Given the description of an element on the screen output the (x, y) to click on. 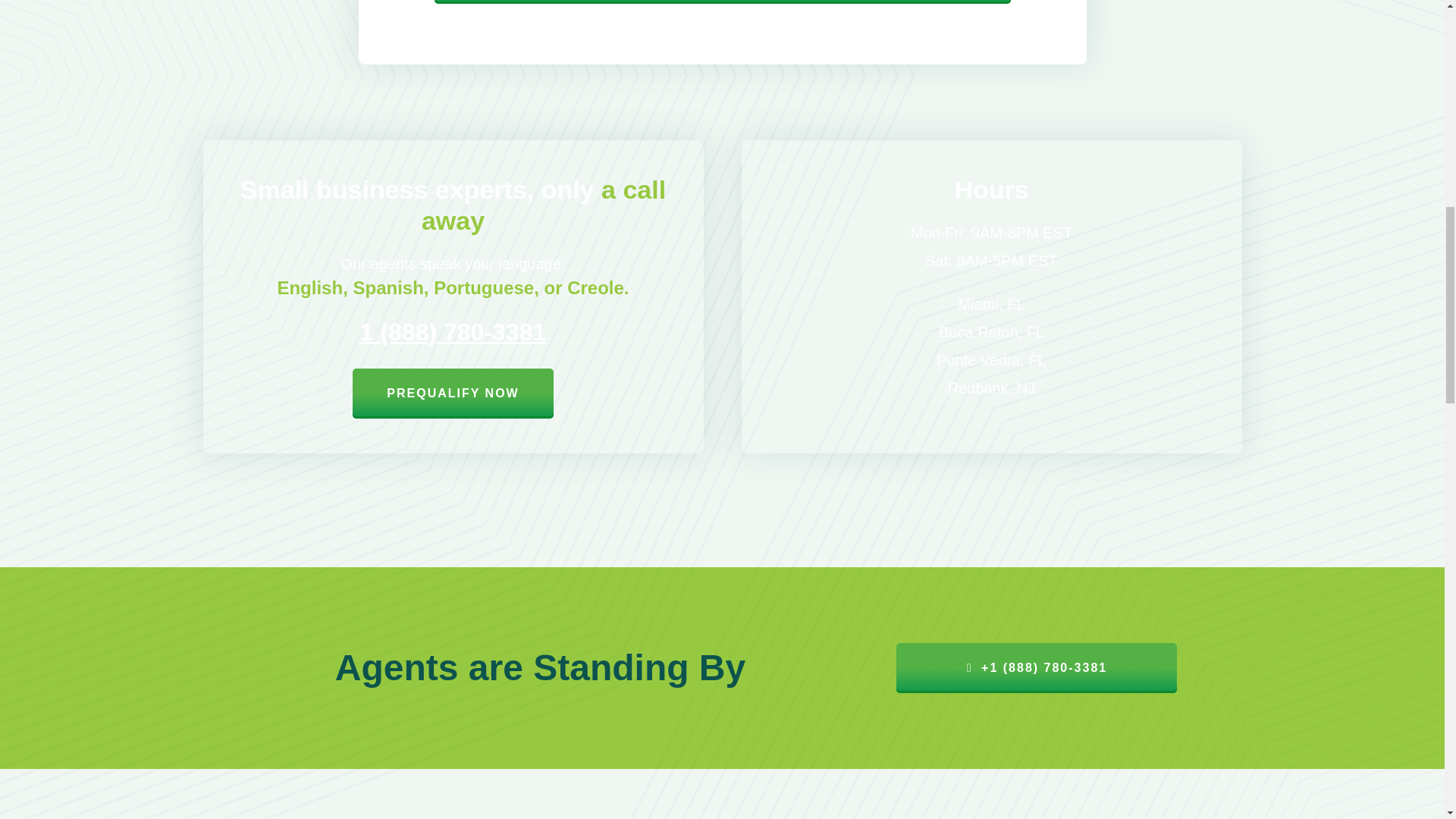
PREQUALIFY NOW (452, 393)
